Given the description of an element on the screen output the (x, y) to click on. 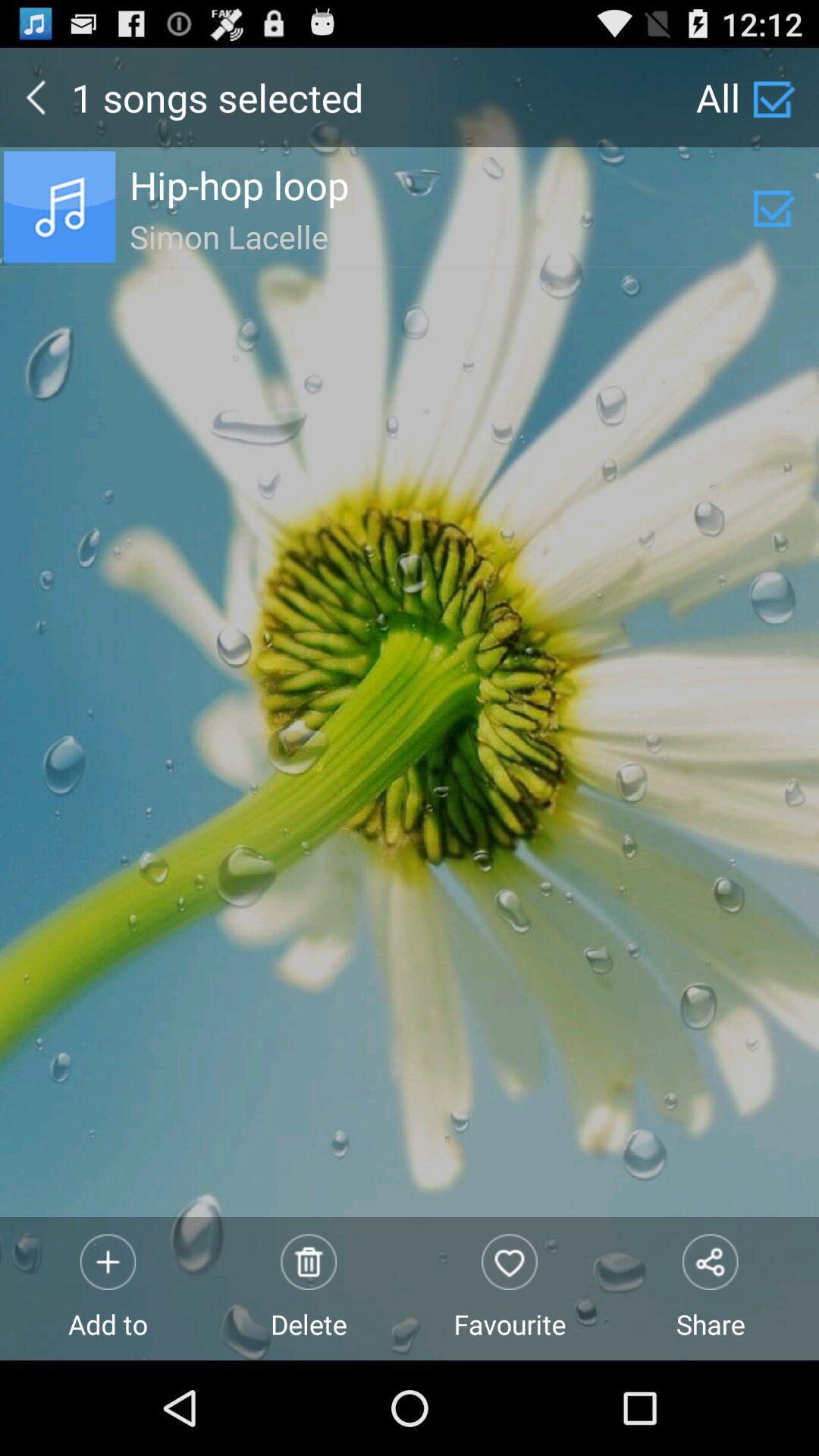
press favourite app (509, 1288)
